Given the description of an element on the screen output the (x, y) to click on. 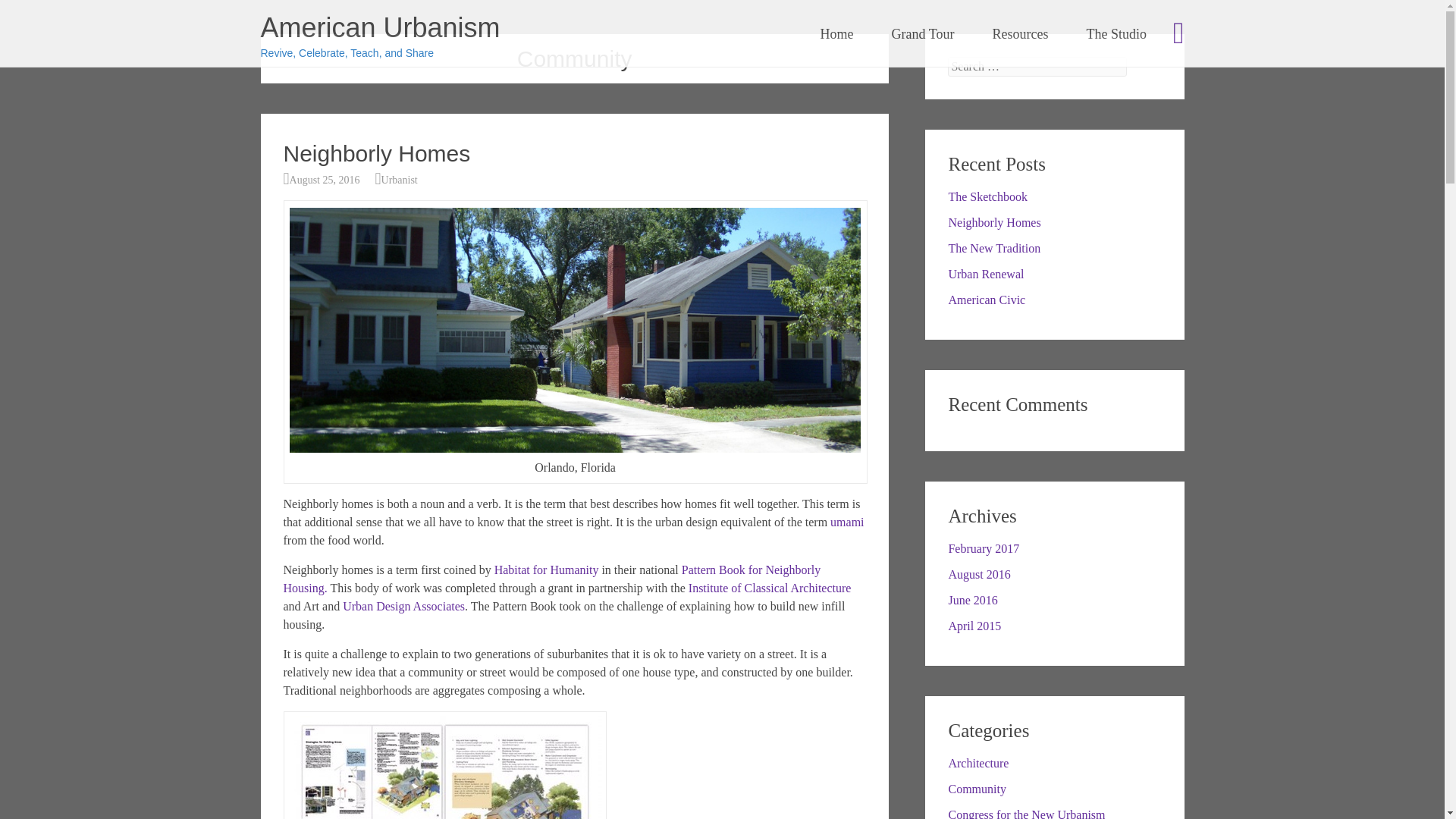
Neighborly Homes (376, 153)
August 25, 2016 (324, 179)
Grand Tour (923, 33)
Institute of Classical Architecture (769, 587)
Home (837, 33)
umami (846, 521)
Urban Design Associates (403, 605)
The Studio (1116, 33)
American Urbanism (380, 27)
Urbanist (399, 179)
Pattern Book for Neighborly Housing. (552, 578)
Resources (1019, 33)
Habitat for Humanity (546, 569)
American Urbanism (380, 27)
